Given the description of an element on the screen output the (x, y) to click on. 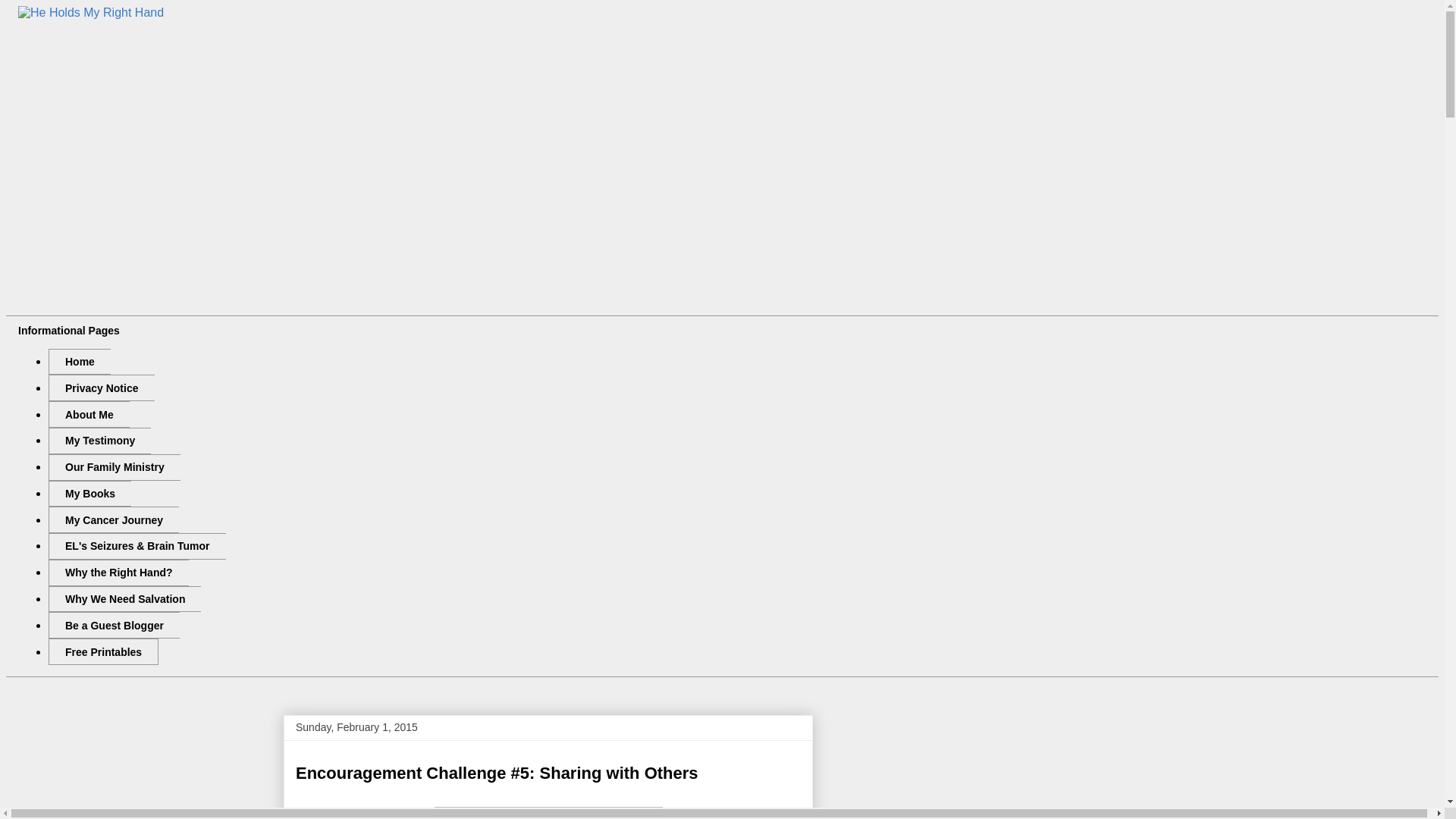
Free Printables (103, 651)
My Books (89, 493)
Privacy Notice (101, 387)
About Me (88, 414)
Our Family Ministry (114, 467)
Why the Right Hand? (118, 572)
My Cancer Journey (113, 519)
My Testimony (99, 440)
Be a Guest Blogger (113, 624)
Why We Need Salvation (124, 599)
Home (79, 361)
